Given the description of an element on the screen output the (x, y) to click on. 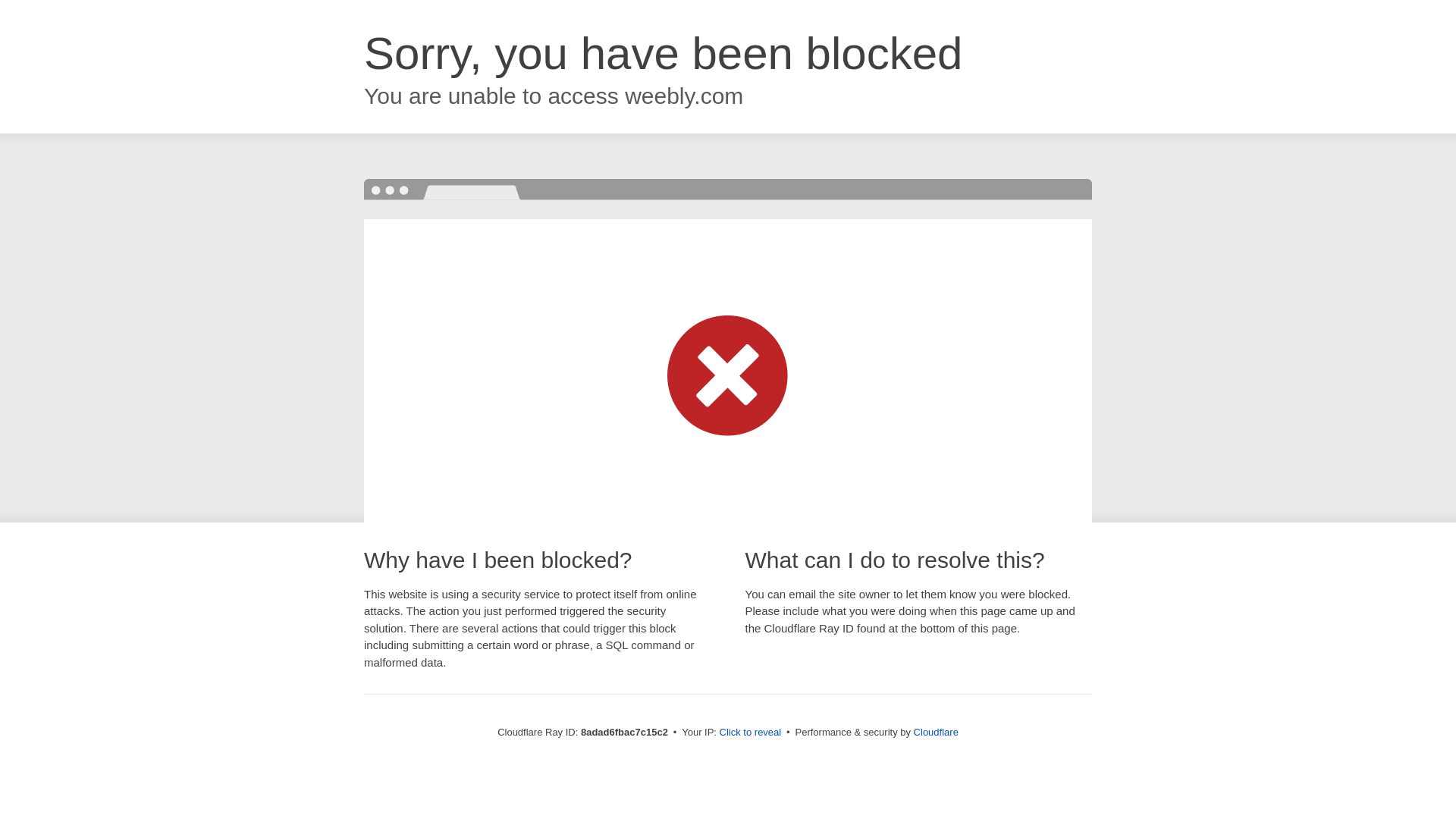
Click to reveal (750, 732)
Cloudflare (936, 731)
